Given the description of an element on the screen output the (x, y) to click on. 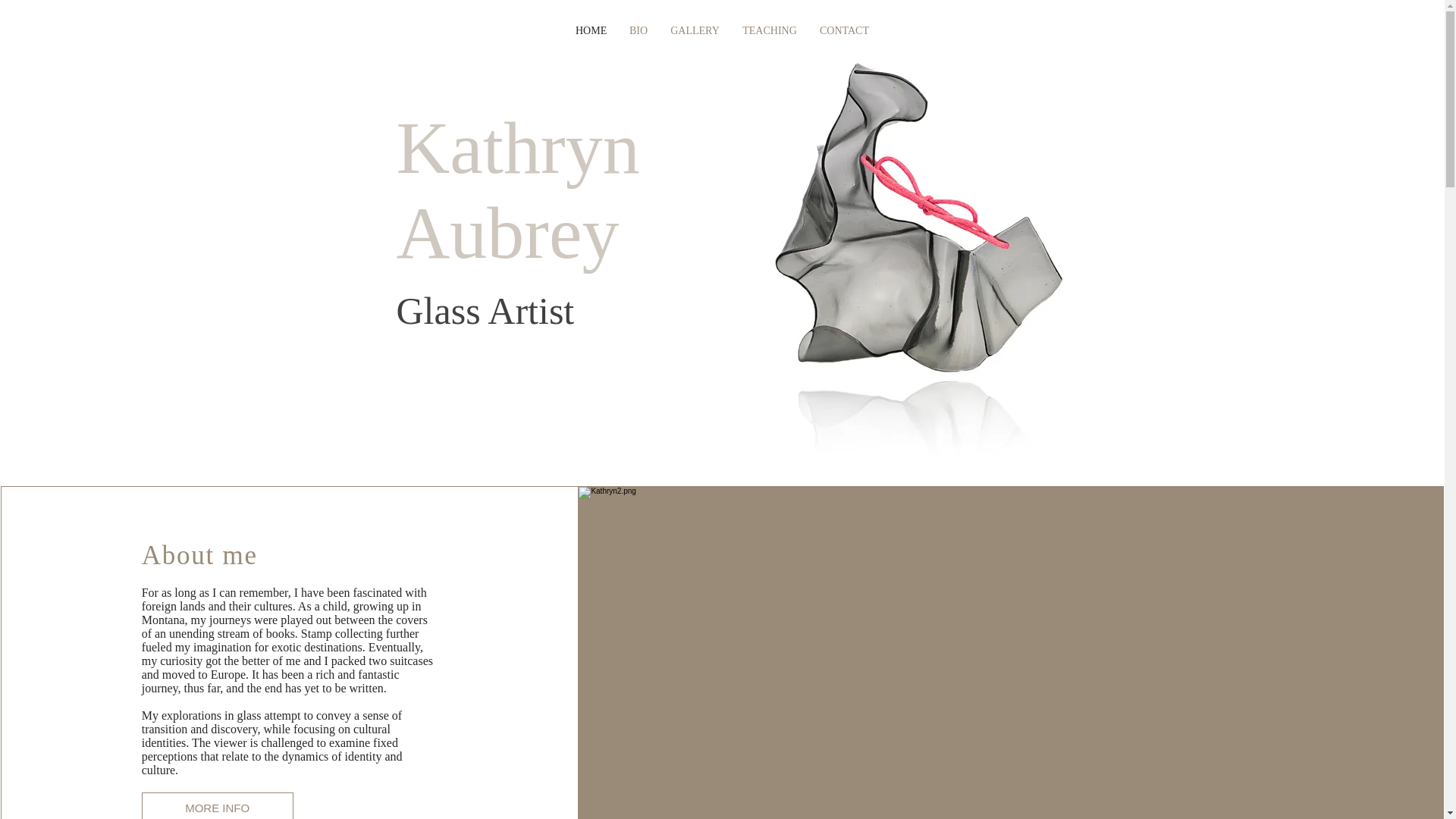
Kathryn (517, 148)
CONTACT (844, 30)
MORE INFO (217, 805)
BIO (638, 30)
GALLERY (694, 30)
TEACHING (769, 30)
HOME (590, 30)
